Given the description of an element on the screen output the (x, y) to click on. 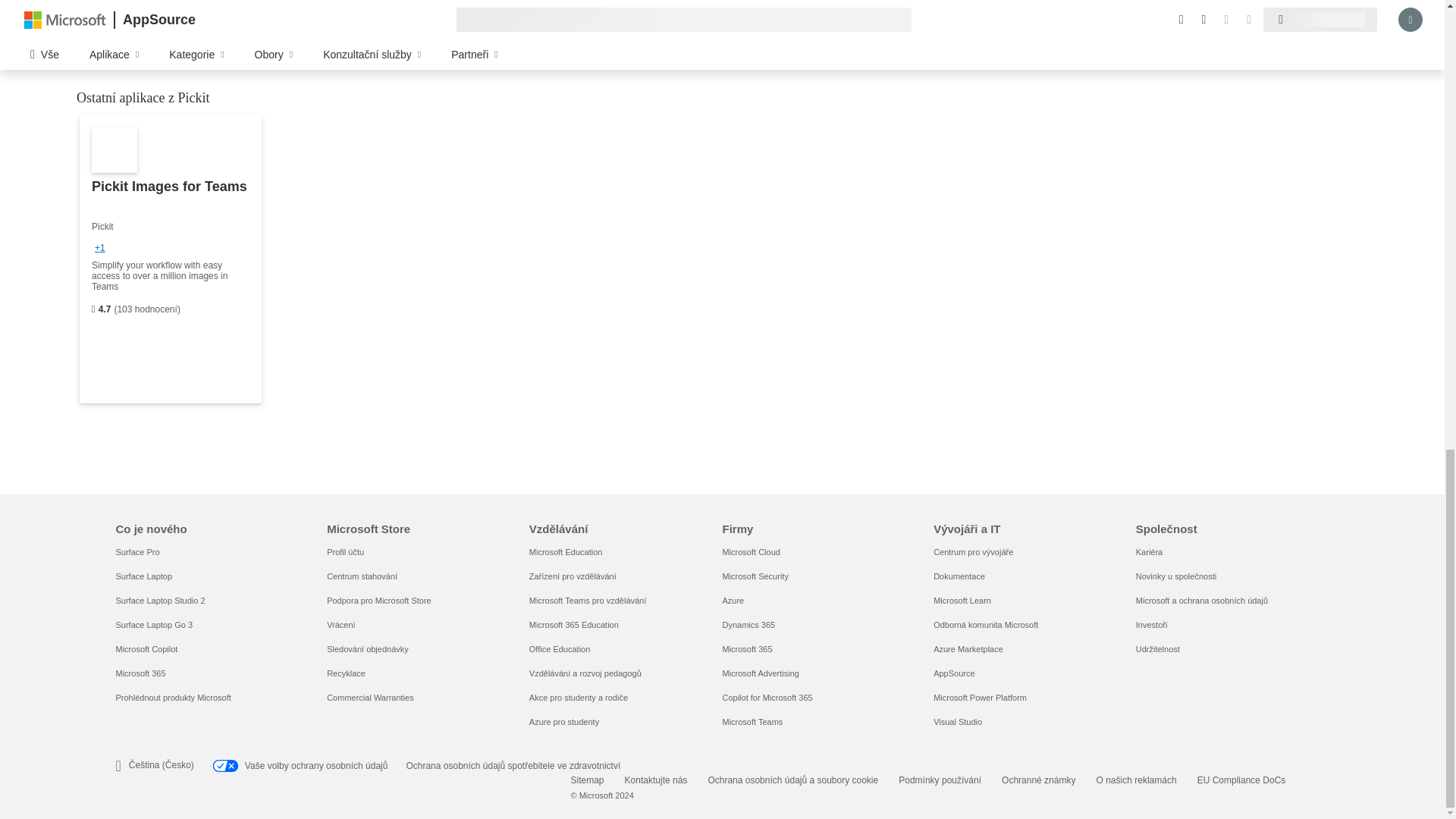
Microsoft Copilot (146, 648)
Recyklace (345, 673)
Microsoft 365 Education (573, 624)
Office Education (560, 648)
Surface Laptop Go 3 (153, 624)
Microsoft 365 (140, 673)
Commercial Warranties (369, 696)
Surface Pro (136, 551)
Microsoft Education (565, 551)
Podpora pro Microsoft Store (378, 600)
